Given the description of an element on the screen output the (x, y) to click on. 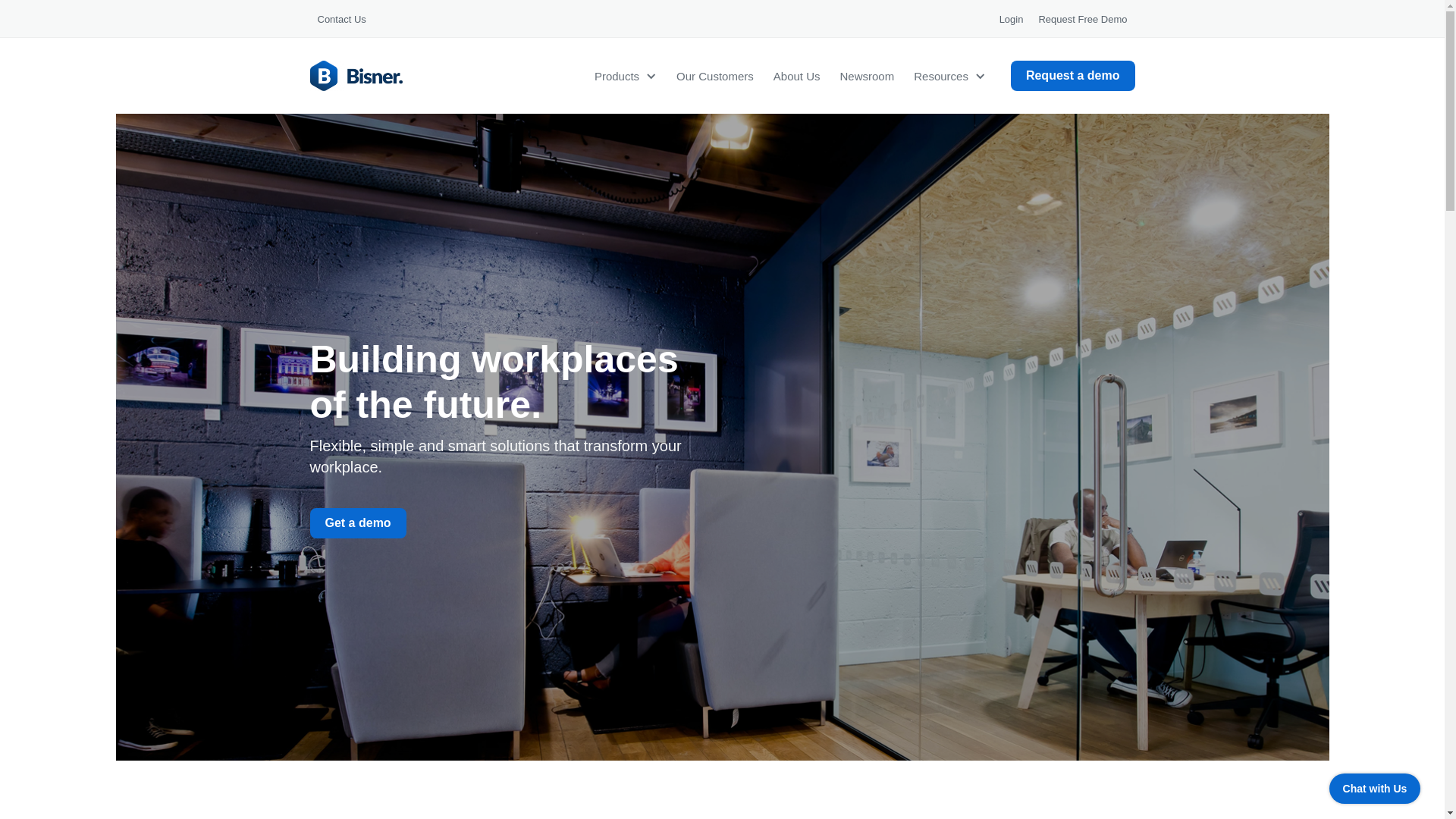
Newsroom (866, 75)
Request Free Demo (1082, 18)
Our Customers (714, 75)
Get a demo (357, 522)
Login (1010, 18)
Resources (936, 75)
Request a demo (1072, 75)
About Us (795, 75)
Contact Us (340, 18)
Products (612, 75)
